Given the description of an element on the screen output the (x, y) to click on. 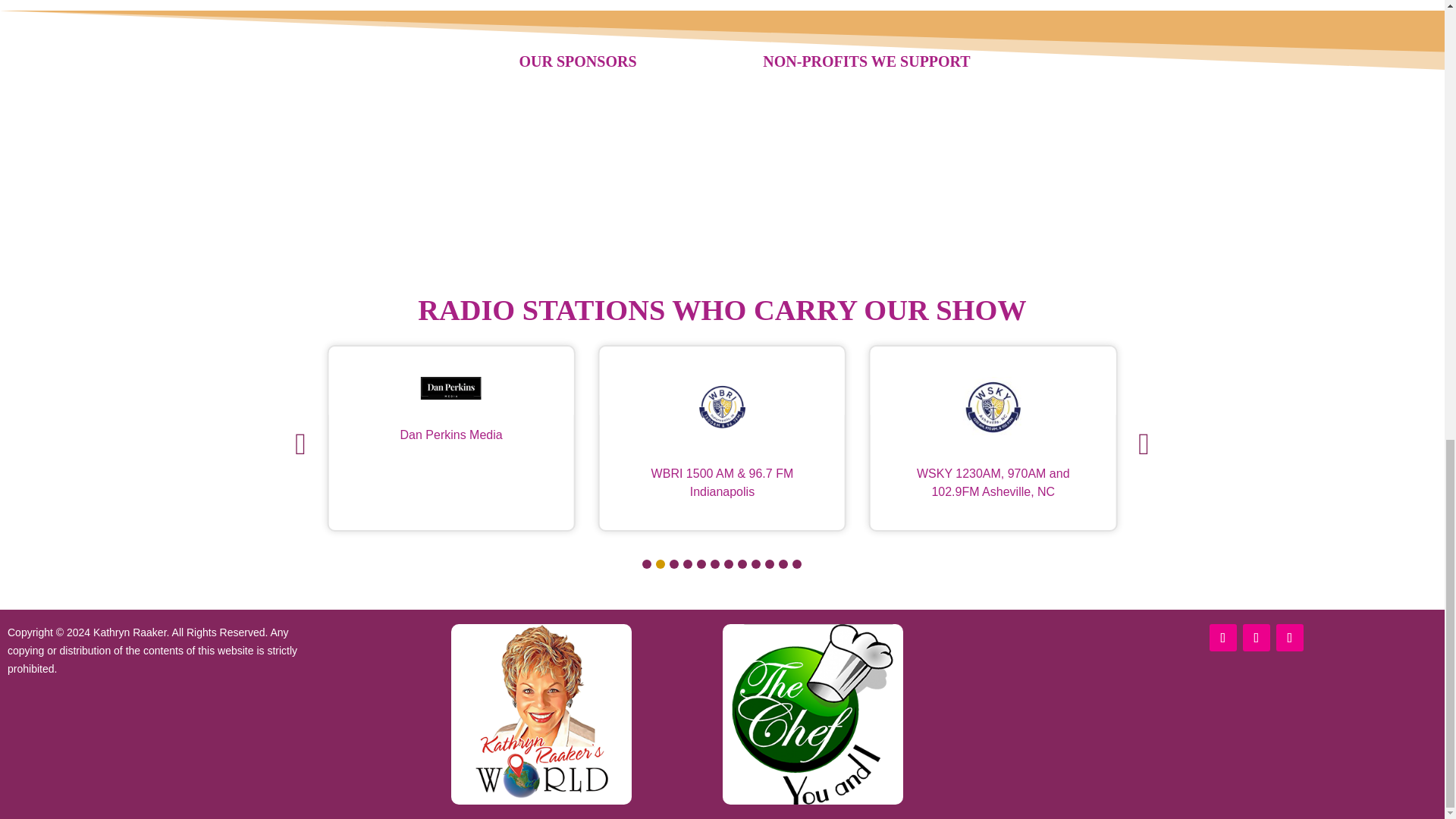
Follow on X (1289, 637)
The Chef You and I (812, 714)
Follow on Facebook (1222, 637)
Follow on LinkedIn (1256, 637)
Kathryn Raaker's World (541, 714)
